Given the description of an element on the screen output the (x, y) to click on. 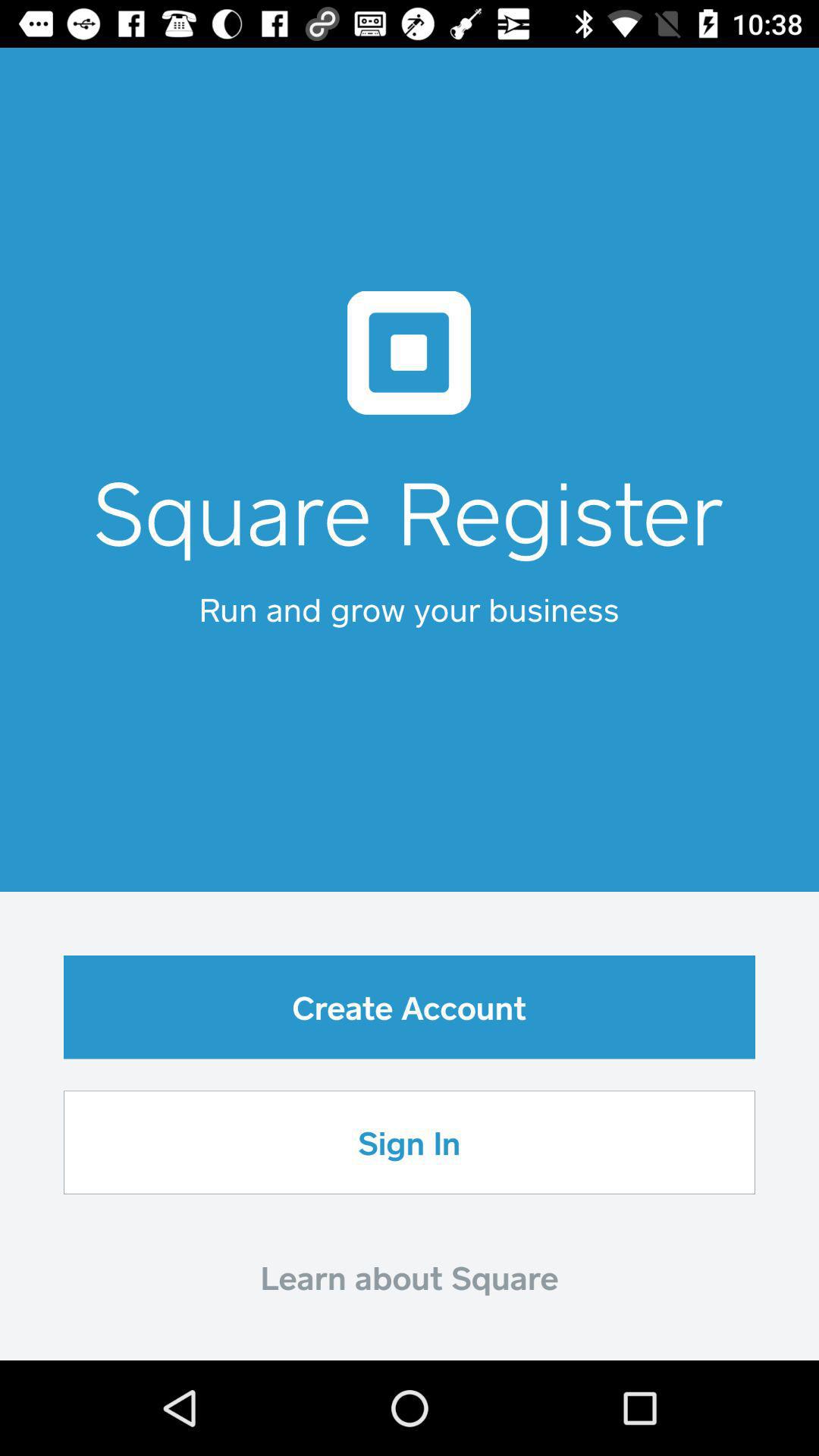
select the create account icon (409, 1007)
